Given the description of an element on the screen output the (x, y) to click on. 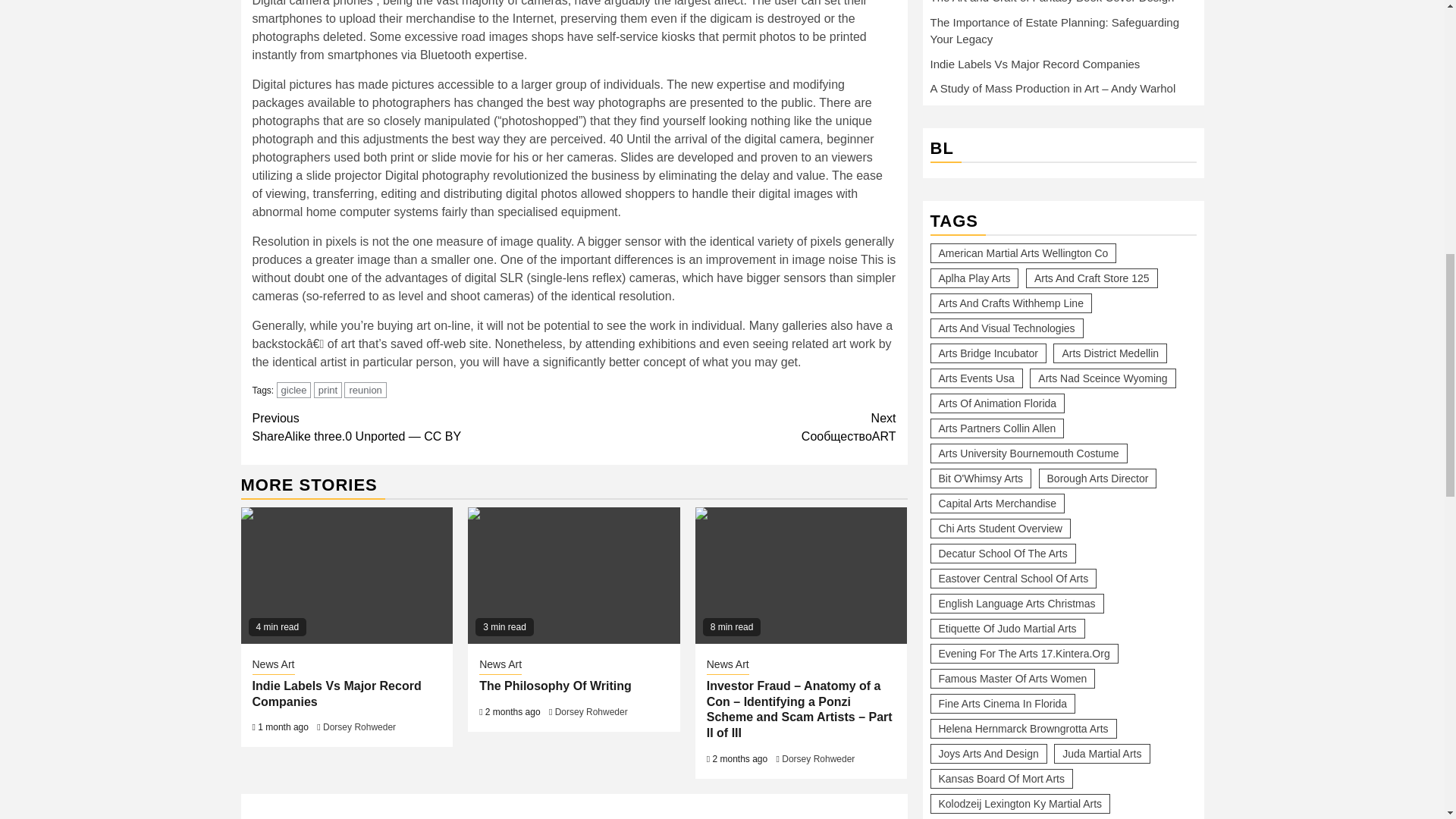
Dorsey Rohweder (817, 758)
The Philosophy Of Writing (555, 685)
giclee (293, 390)
reunion (364, 390)
print (328, 390)
Indie Labels Vs Major Record Companies (335, 693)
News Art (500, 665)
Indie Labels Vs Major Record Companies (346, 574)
The Philosophy Of Writing (573, 574)
News Art (272, 665)
